Given the description of an element on the screen output the (x, y) to click on. 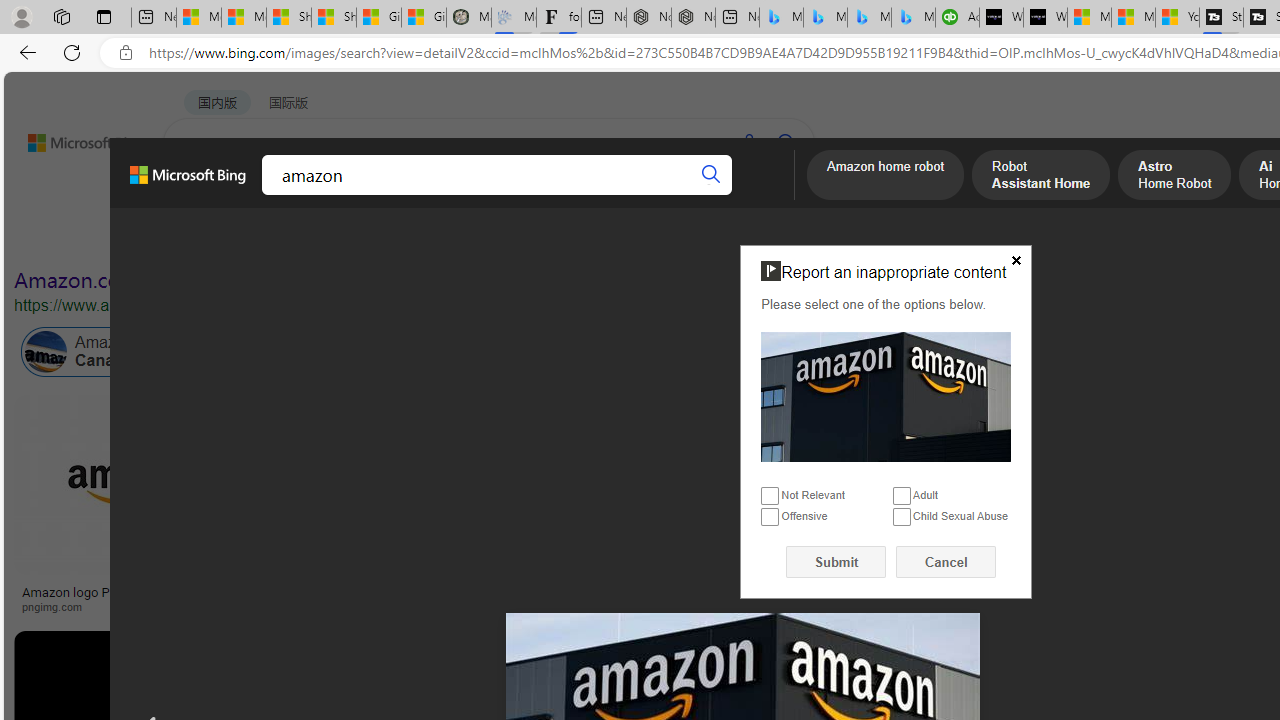
MAPS (698, 195)
Child Sexual Abuse (901, 517)
Amazon Prime Online (303, 351)
Image size (222, 237)
Microsoft Bing Travel - Stays in Bangkok, Bangkok, Thailand (825, 17)
Alexa Smart Home Devices (1183, 584)
Image result for amazon (923, 675)
Color (305, 237)
Shanghai, China weather forecast | Microsoft Weather (333, 17)
Offensive (770, 517)
